Given the description of an element on the screen output the (x, y) to click on. 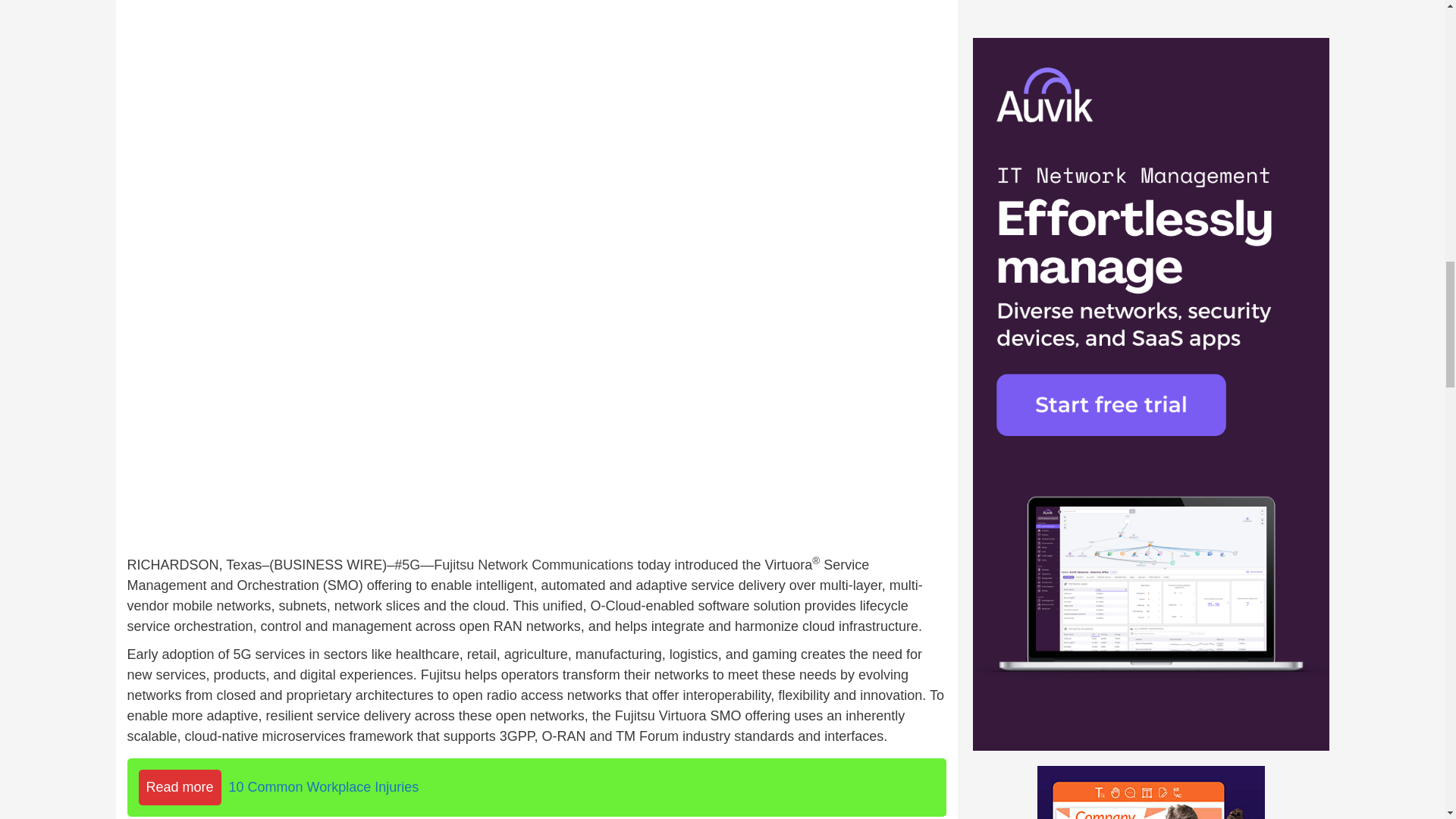
Search (1276, 206)
Search (1276, 206)
Read more10 Common Workplace Injuries (537, 787)
Fujitsu Network Communications (533, 564)
